Given the description of an element on the screen output the (x, y) to click on. 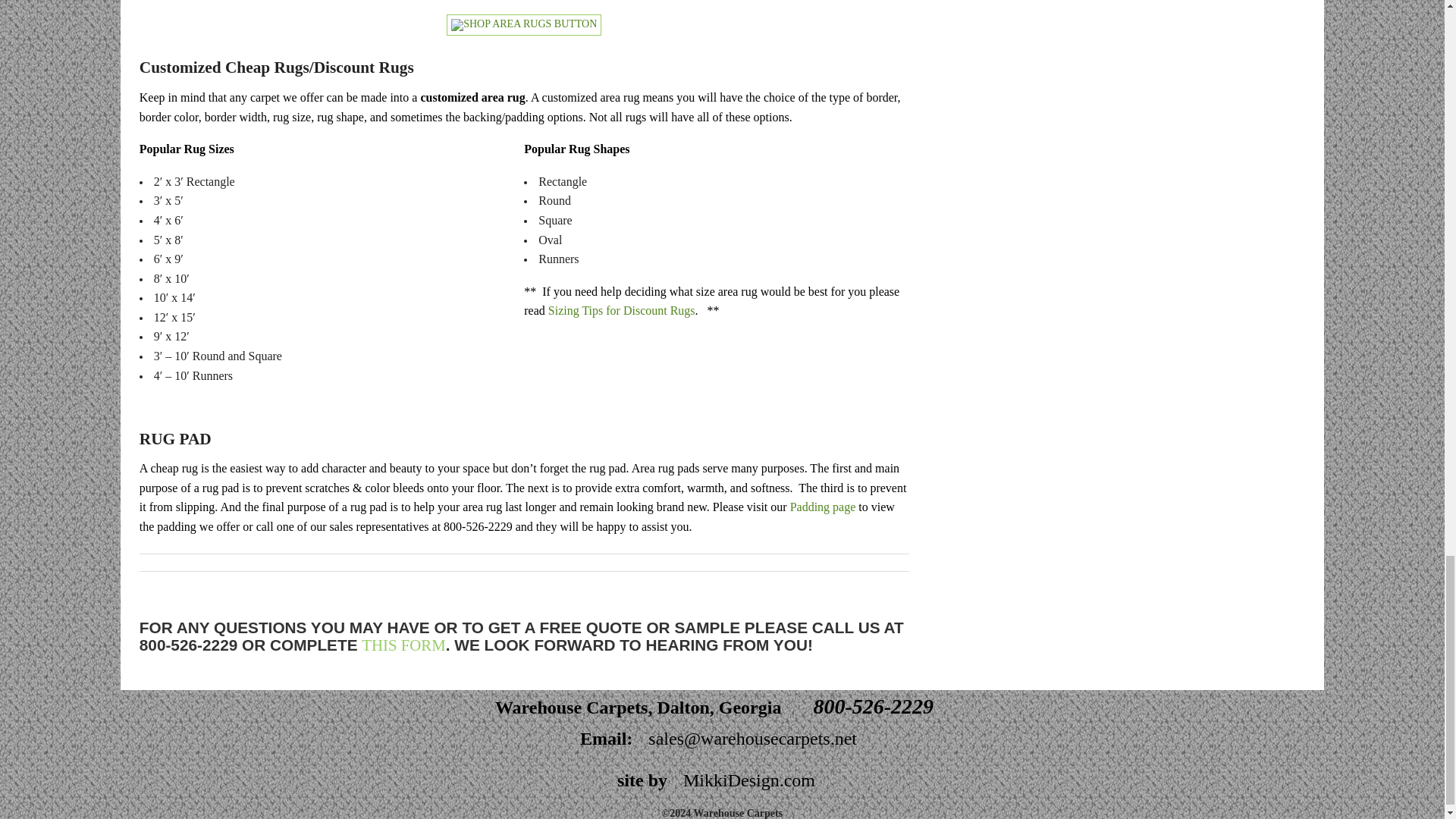
Sizing Tips for Discount Rugs (621, 309)
Padding page (823, 506)
THIS FORM (403, 644)
